Given the description of an element on the screen output the (x, y) to click on. 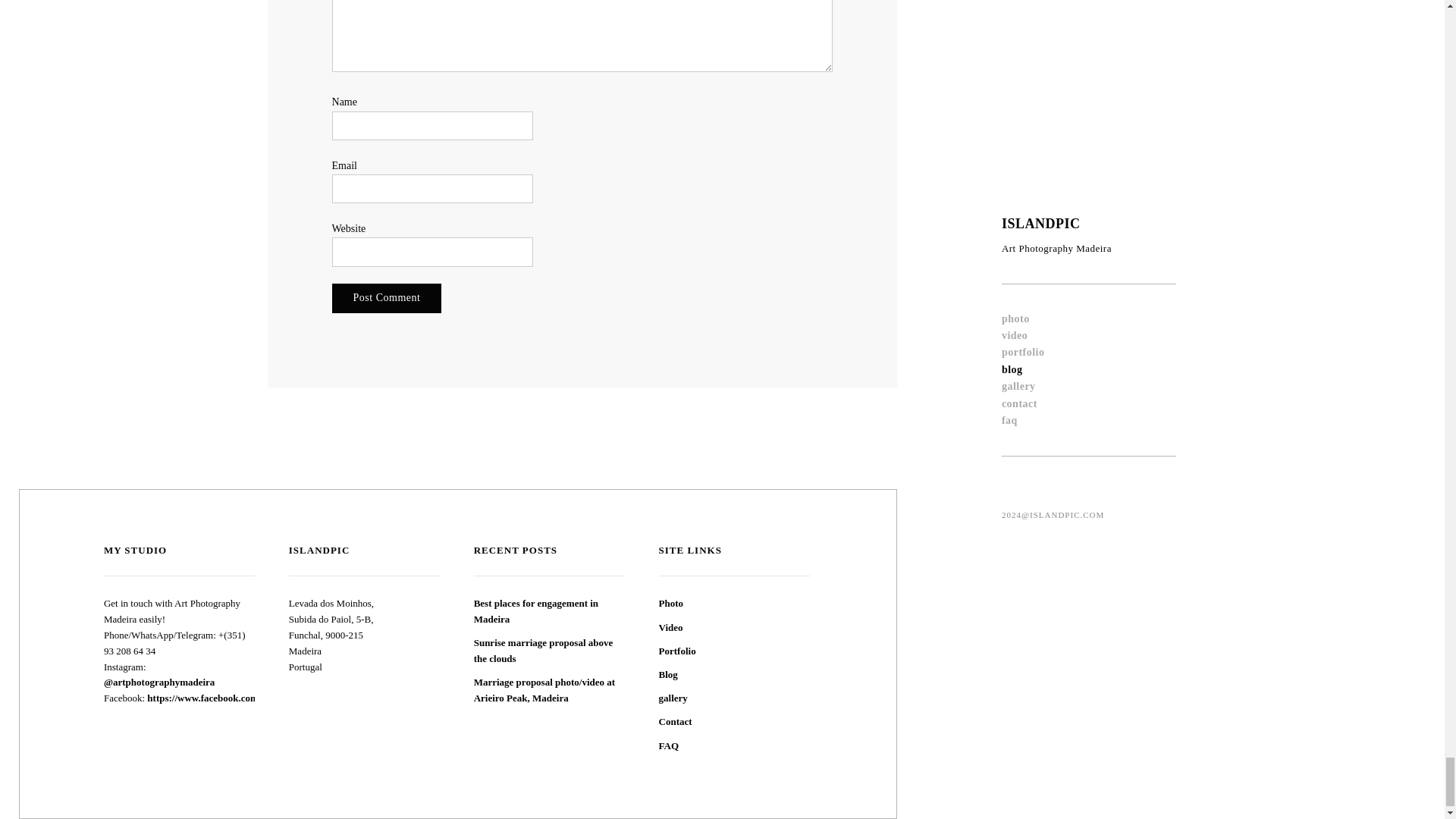
Post Comment (386, 297)
